Given the description of an element on the screen output the (x, y) to click on. 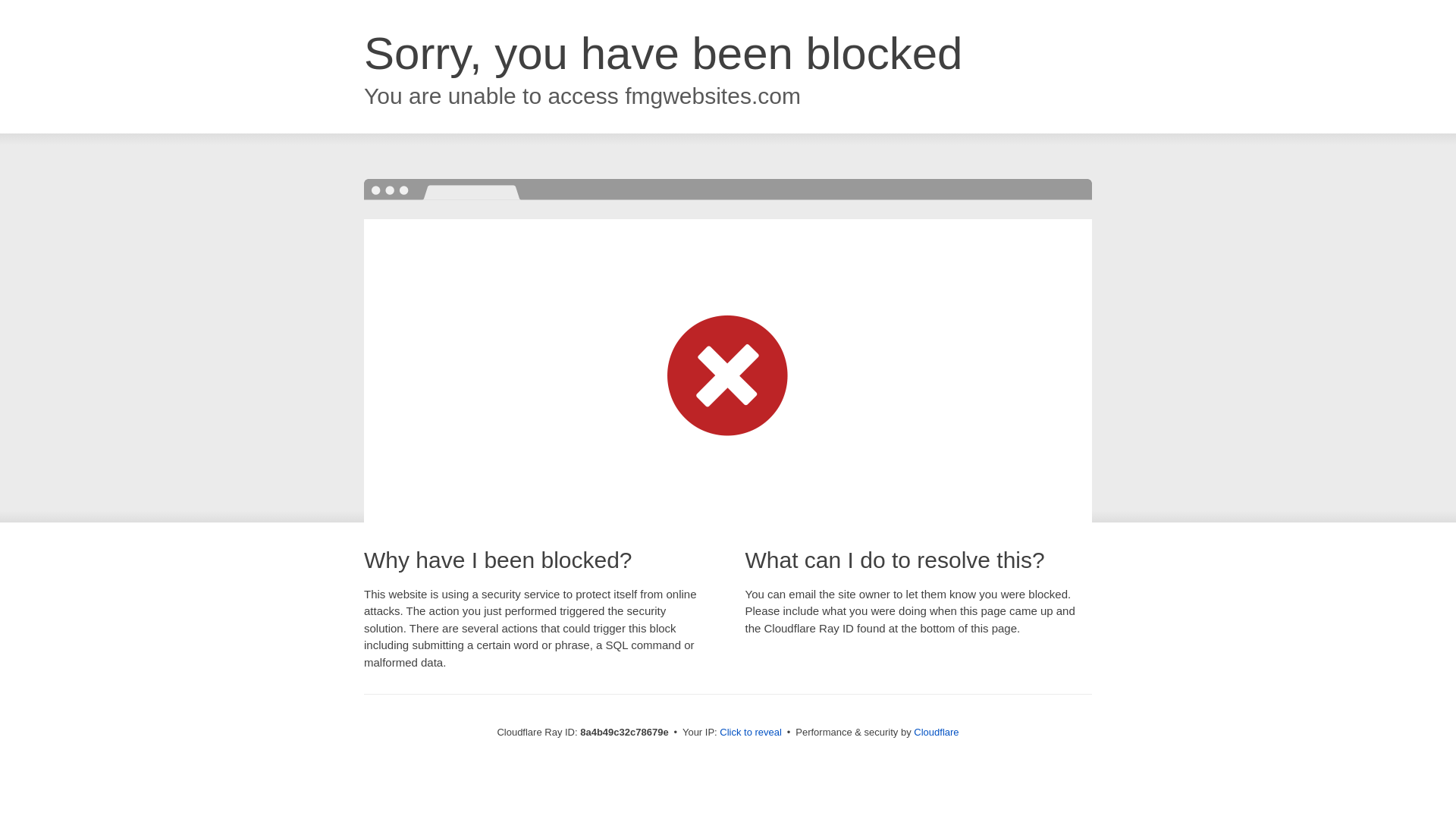
Click to reveal (750, 732)
Cloudflare (936, 731)
